Given the description of an element on the screen output the (x, y) to click on. 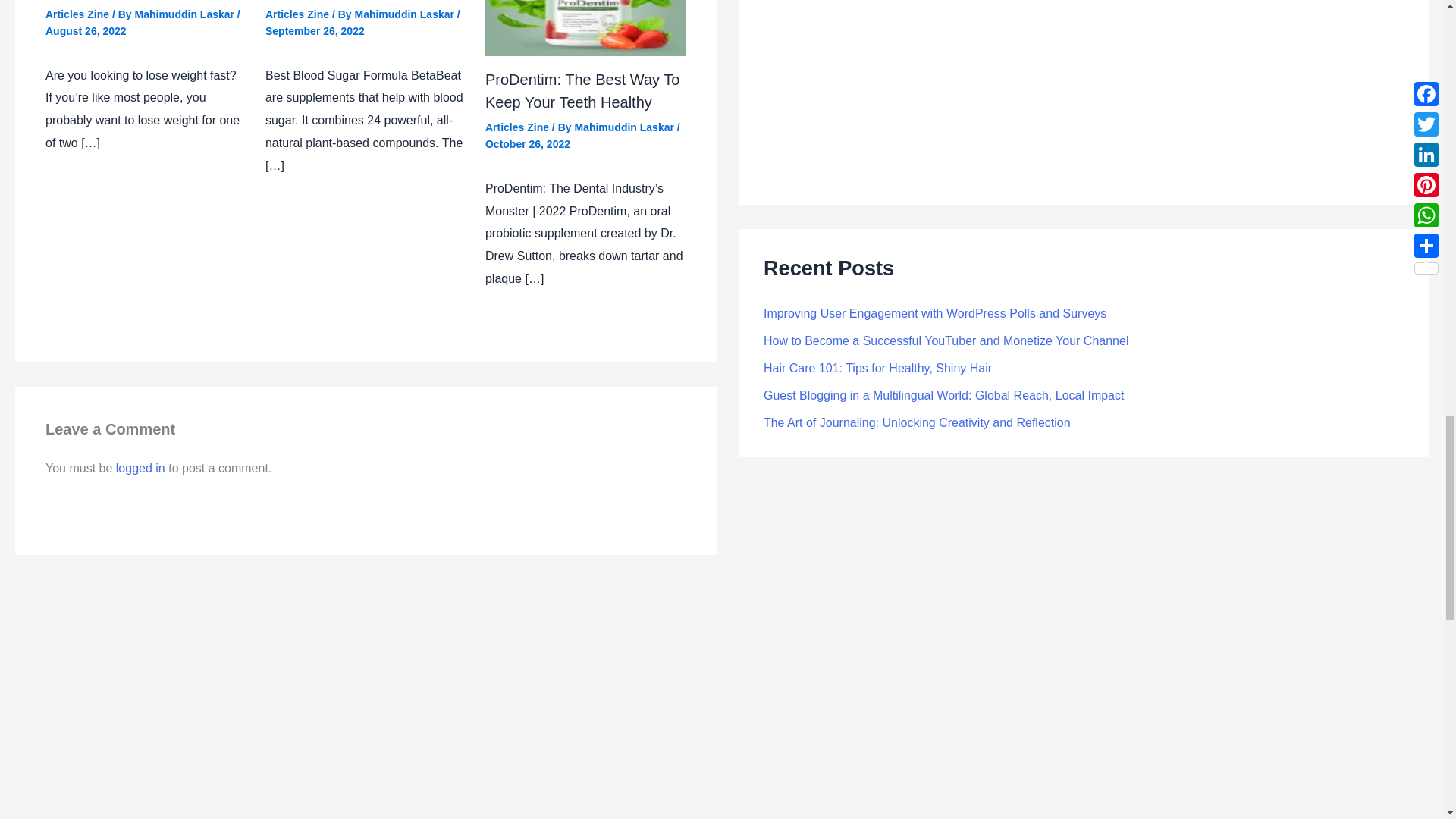
Articles Zine (296, 14)
Advertisement (1084, 86)
Mahimuddin Laskar (625, 127)
View all posts by Mahimuddin Laskar (186, 14)
Mahimuddin Laskar (405, 14)
Advertisement (721, 753)
Articles Zine (77, 14)
ProDentim: The Best Way To Keep Your Teeth Healthy (581, 90)
ProDentim: The Best Way To Keep Your Teeth Healthy 3 (584, 28)
View all posts by Mahimuddin Laskar (405, 14)
